Given the description of an element on the screen output the (x, y) to click on. 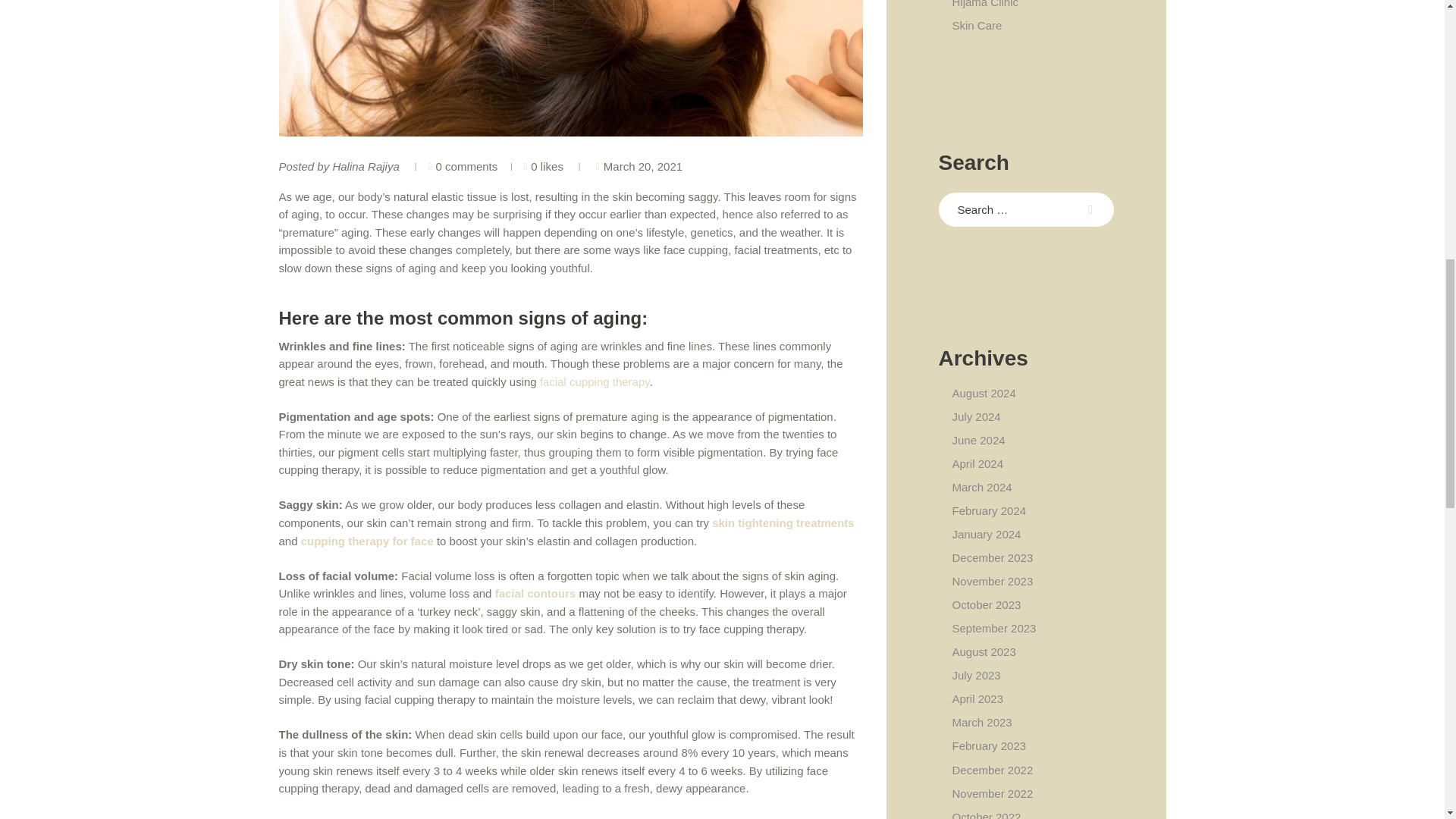
Search for: (1026, 209)
Like (531, 165)
Will Cupping Therapy slow down Premature Aging? (571, 68)
Comments - 0 (462, 165)
